Given the description of an element on the screen output the (x, y) to click on. 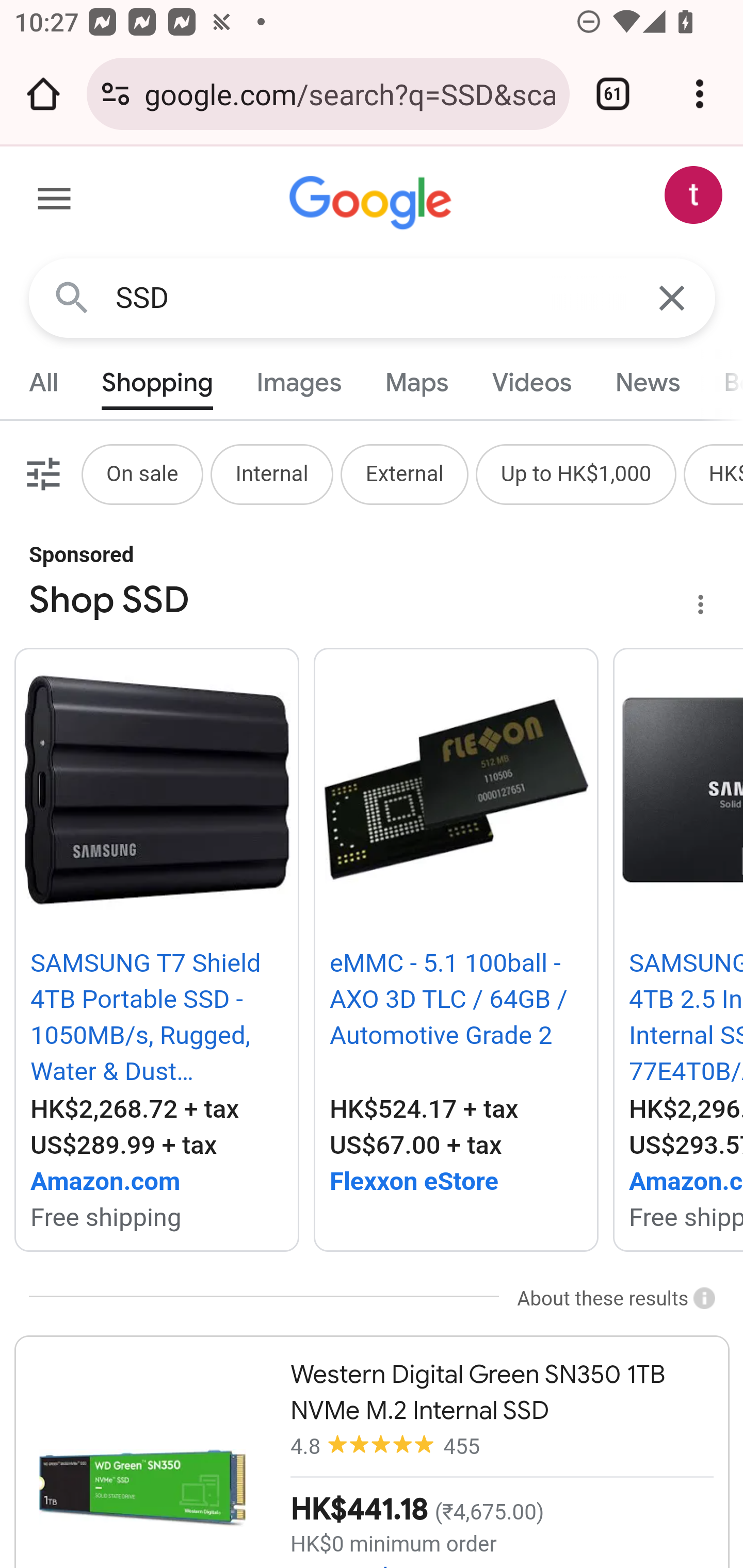
Open the home page (43, 93)
Connection is secure (115, 93)
Switch or close tabs (612, 93)
Customize and control Google Chrome (699, 93)
Main menu (54, 202)
Google (372, 203)
Google Search (71, 296)
Clear Search (672, 296)
SSD (372, 297)
All (43, 382)
Images (299, 382)
Maps (416, 382)
Videos (531, 382)
News (647, 382)
Filters.0 filters applied. (41, 473)
On sale (141, 473)
Internal (271, 473)
External (404, 473)
Up to HK$1,000 (575, 473)
From Amazon.com Amazon.com (155, 1181)
From Flexxon eStore Flexxon eStore (455, 1181)
